Given the description of an element on the screen output the (x, y) to click on. 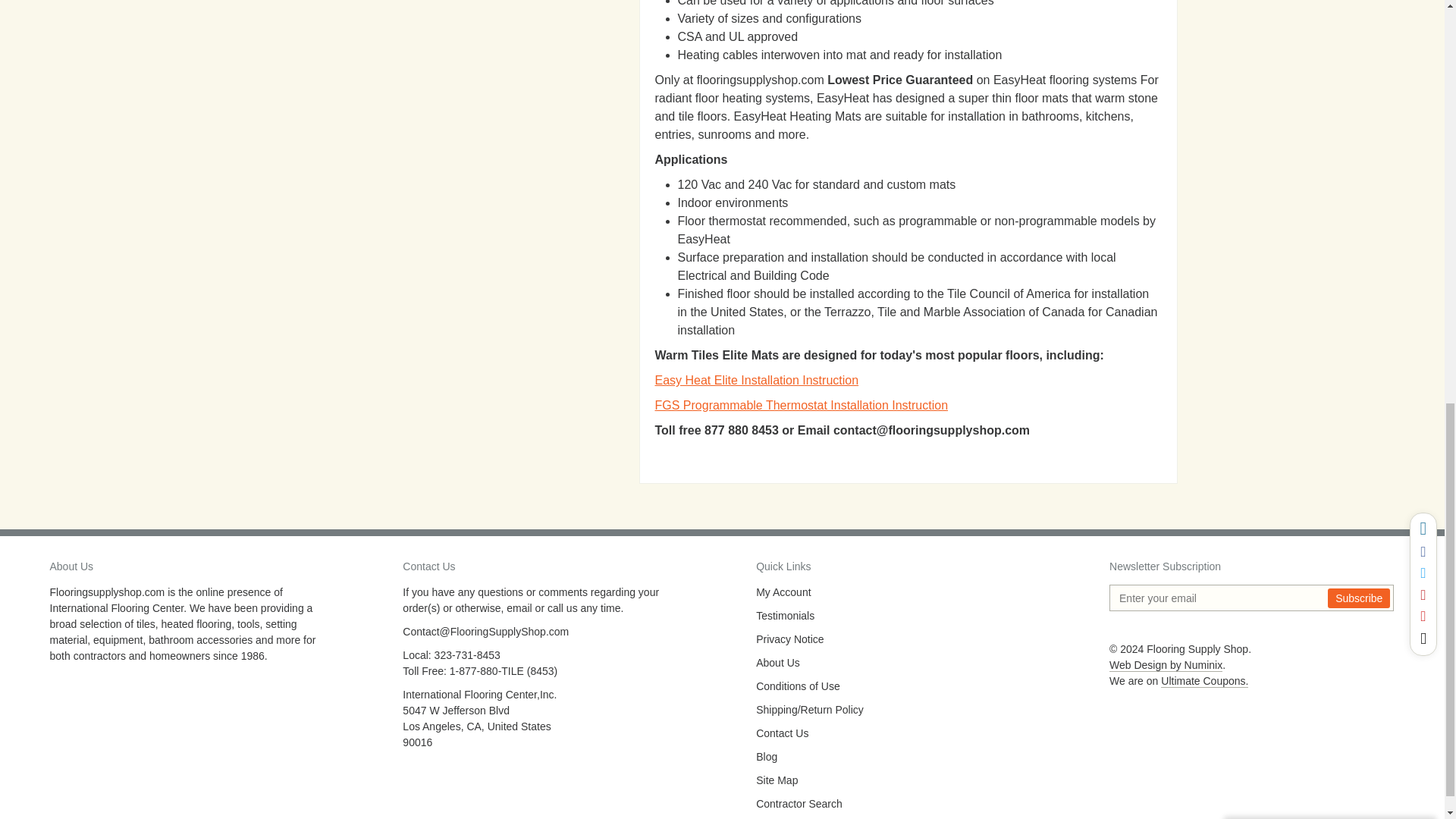
FGS Programmable Thermostat Installation Instruction (802, 404)
Easy Heat Elite Installation Instruction (757, 379)
Flooring Supply Shop coupons (1203, 680)
